Given the description of an element on the screen output the (x, y) to click on. 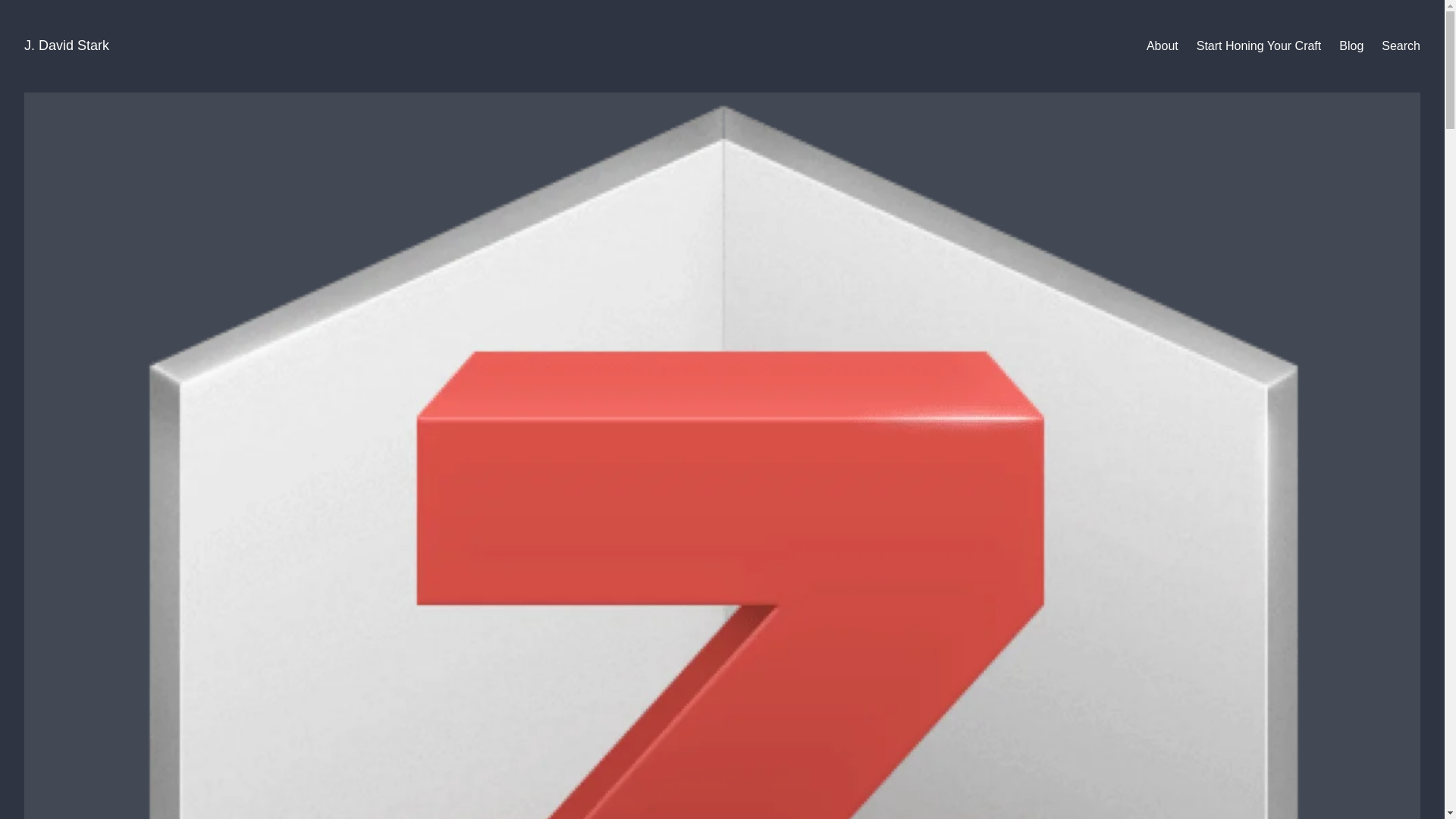
About (1162, 46)
Blog (1350, 46)
Search (1401, 46)
Start Honing Your Craft (1259, 46)
J. David Stark (66, 45)
